Given the description of an element on the screen output the (x, y) to click on. 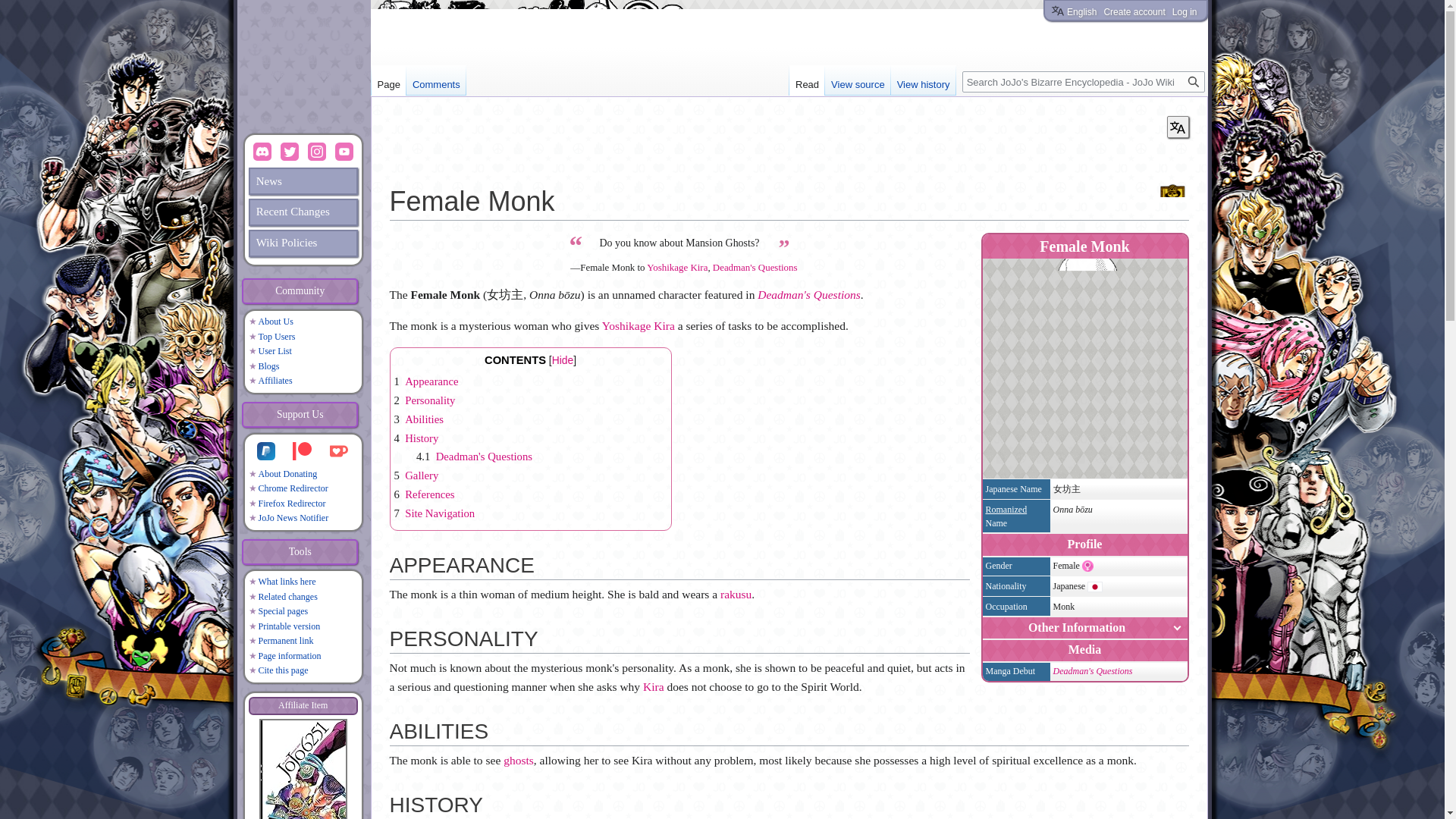
Deadman's Questions (755, 266)
3 Abilities (419, 419)
Romanized (1006, 509)
Go (1193, 81)
7 Site Navigation (435, 512)
Deadman's Questions (1092, 670)
Deadman's Questions (1092, 670)
wikipedia:Hepburn romanization (1006, 509)
Search (1193, 81)
Deadman's Questions (808, 294)
